Given the description of an element on the screen output the (x, y) to click on. 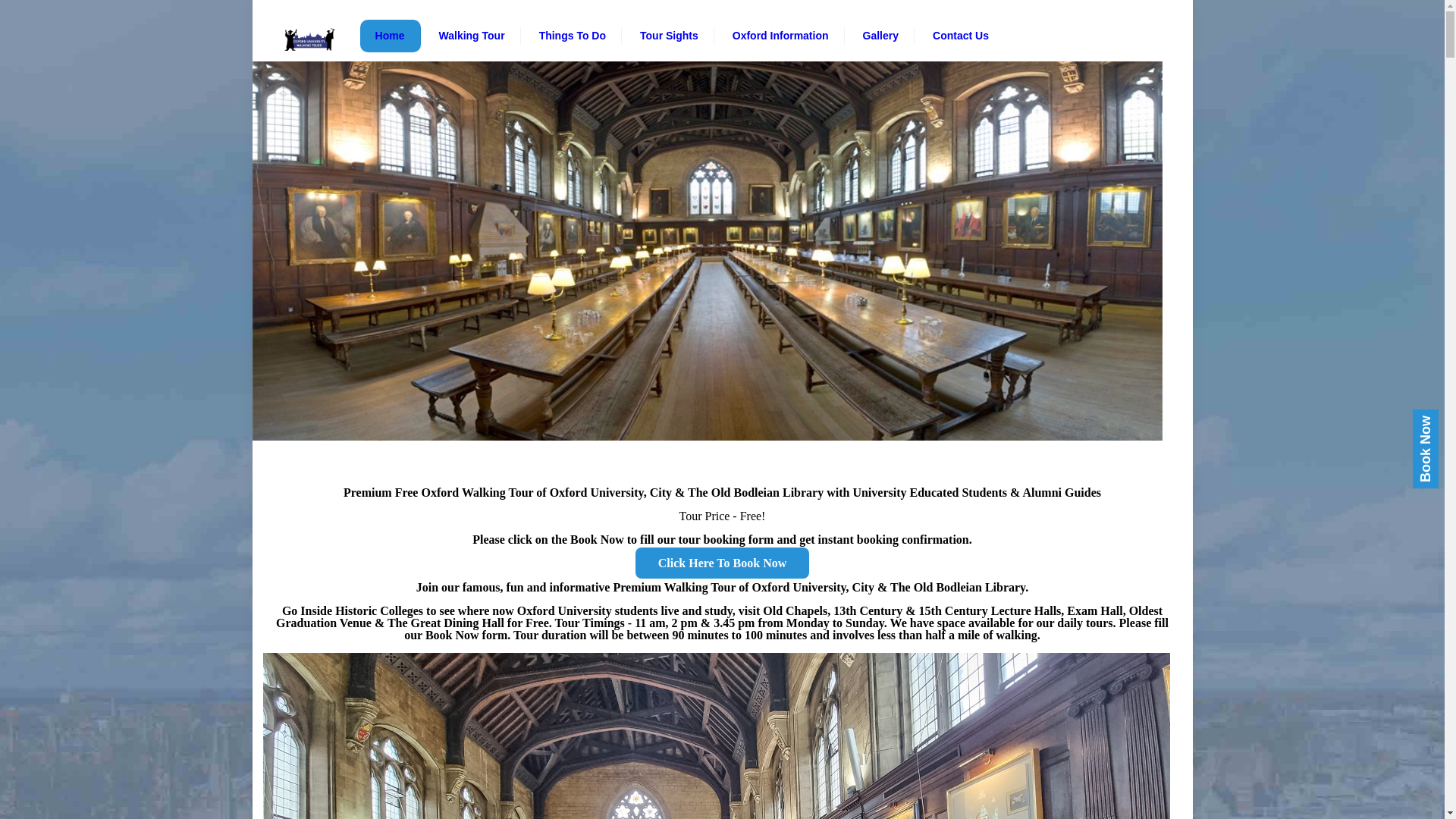
Click Here To Book Now (721, 562)
Walking Tour (472, 35)
Home (389, 35)
Tour Sights (669, 35)
Oxford Information (780, 35)
Gallery (880, 35)
Things To Do (572, 35)
Contact Us (960, 35)
